Given the description of an element on the screen output the (x, y) to click on. 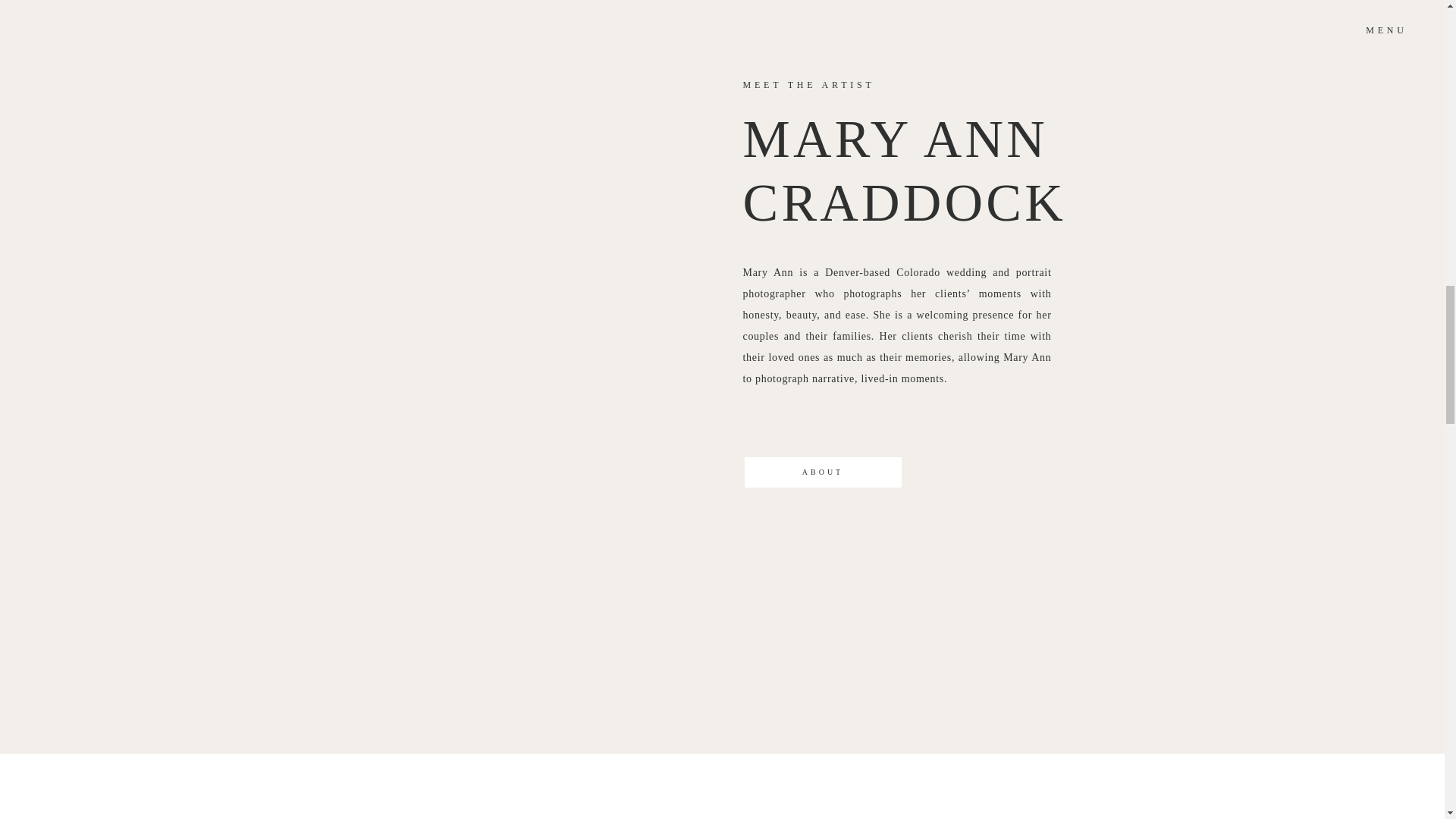
ABOUT (822, 471)
